Given the description of an element on the screen output the (x, y) to click on. 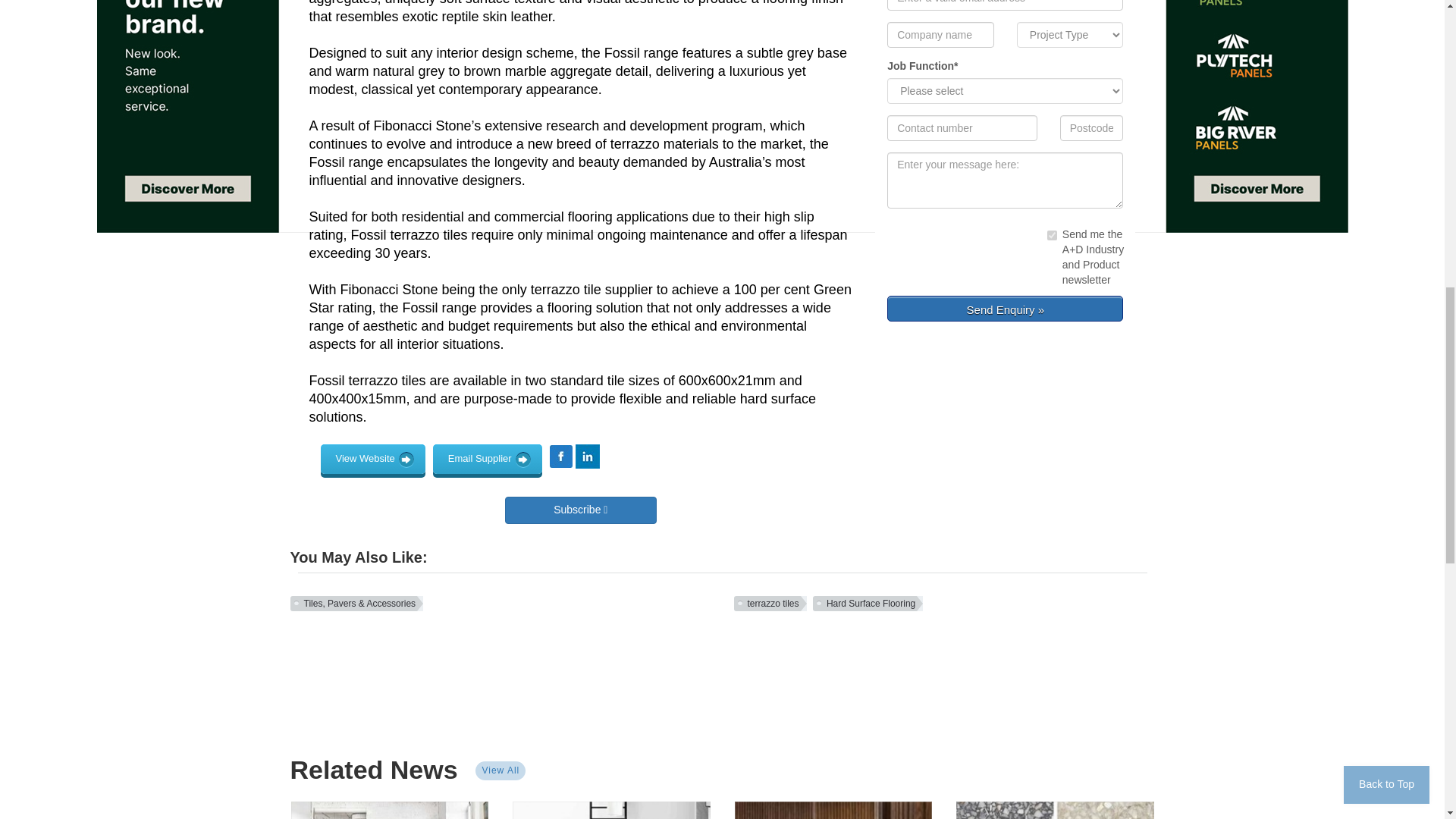
on (1051, 235)
3rd party ad content (721, 673)
